Given the description of an element on the screen output the (x, y) to click on. 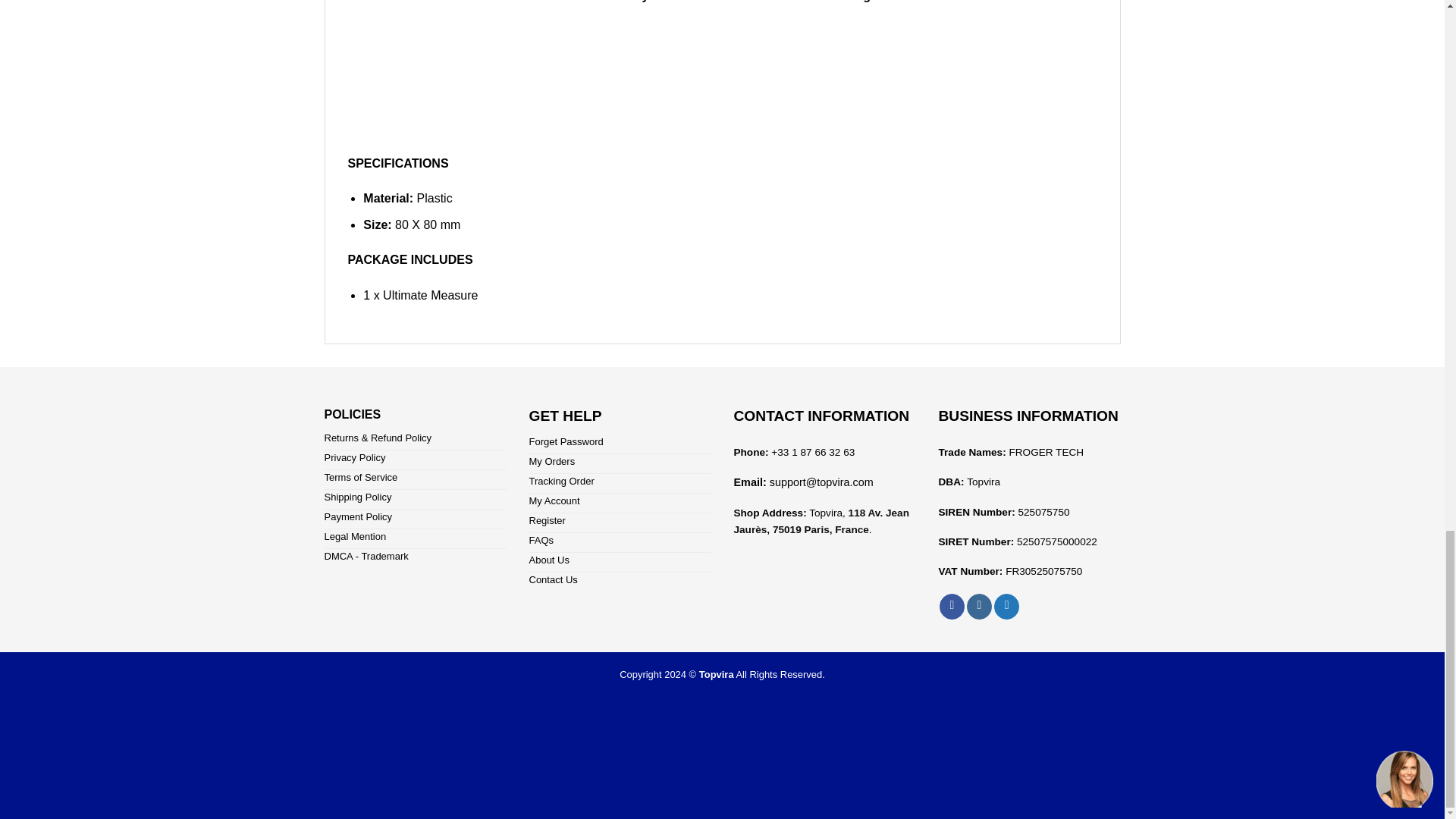
Follow on Facebook (951, 606)
Ultimate Measure - Digital Measuring Tape 14 (461, 81)
Follow on Instagram (978, 606)
